Given the description of an element on the screen output the (x, y) to click on. 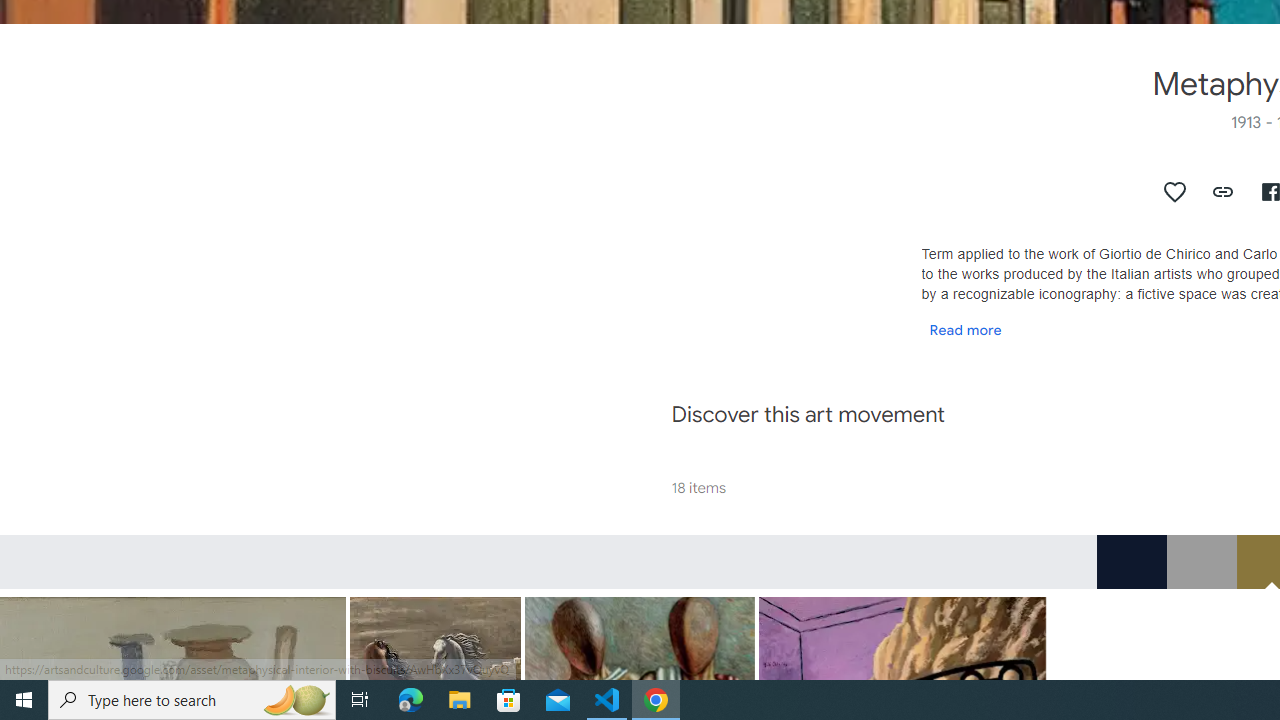
Authenticate to favorite this asset. (1175, 191)
Copy Link (1223, 191)
Read more (965, 329)
RGB_0E182D (1131, 561)
RGB_9C9C9C (1201, 561)
